Given the description of an element on the screen output the (x, y) to click on. 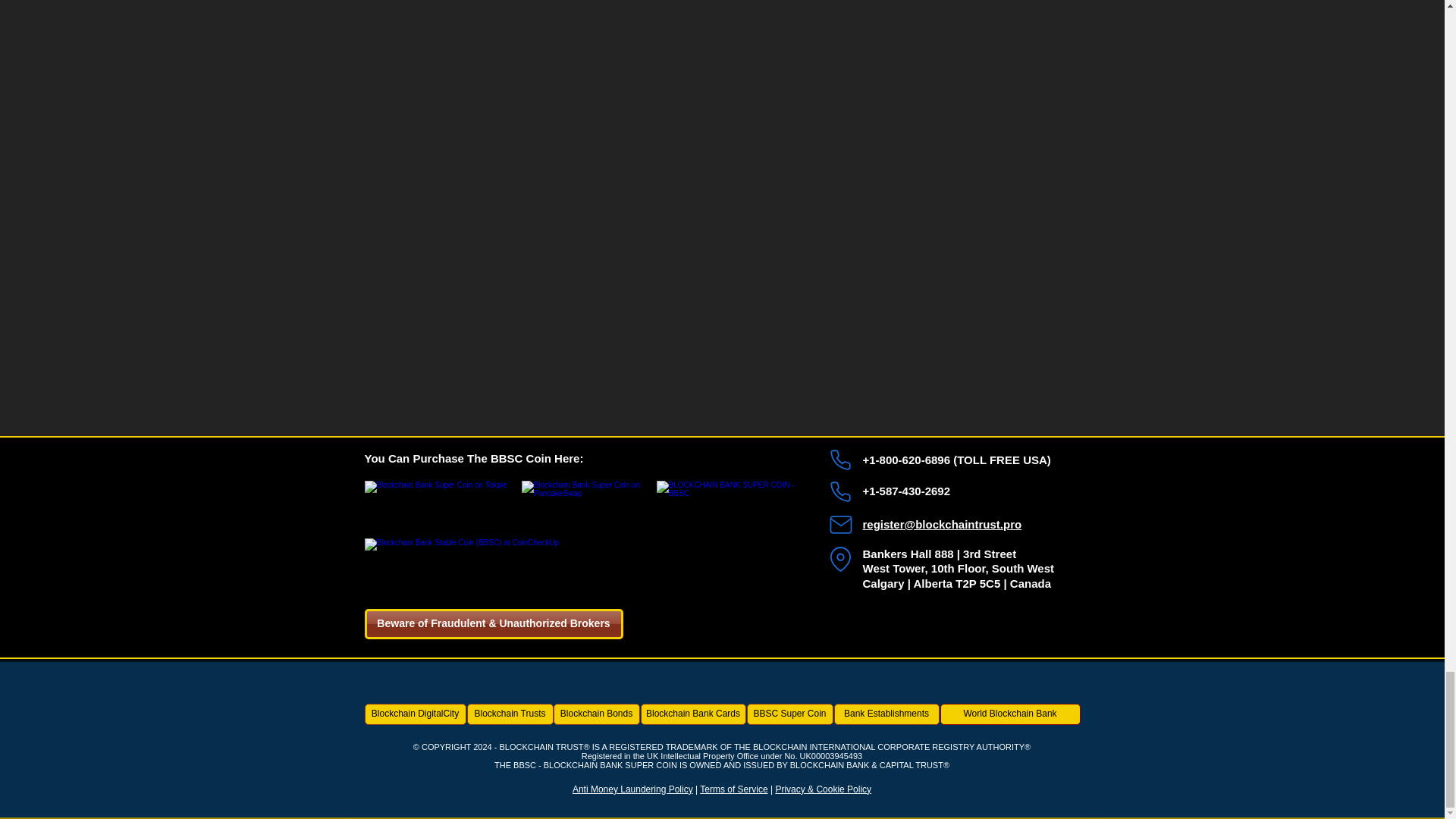
Blockchain Bank Super Coin on PancakeSwap (587, 497)
Blockchain Bank Super Coin on Tokpie (438, 497)
BLOCKCHAIN BANK SUPER COIN - BBSC (727, 551)
